Given the description of an element on the screen output the (x, y) to click on. 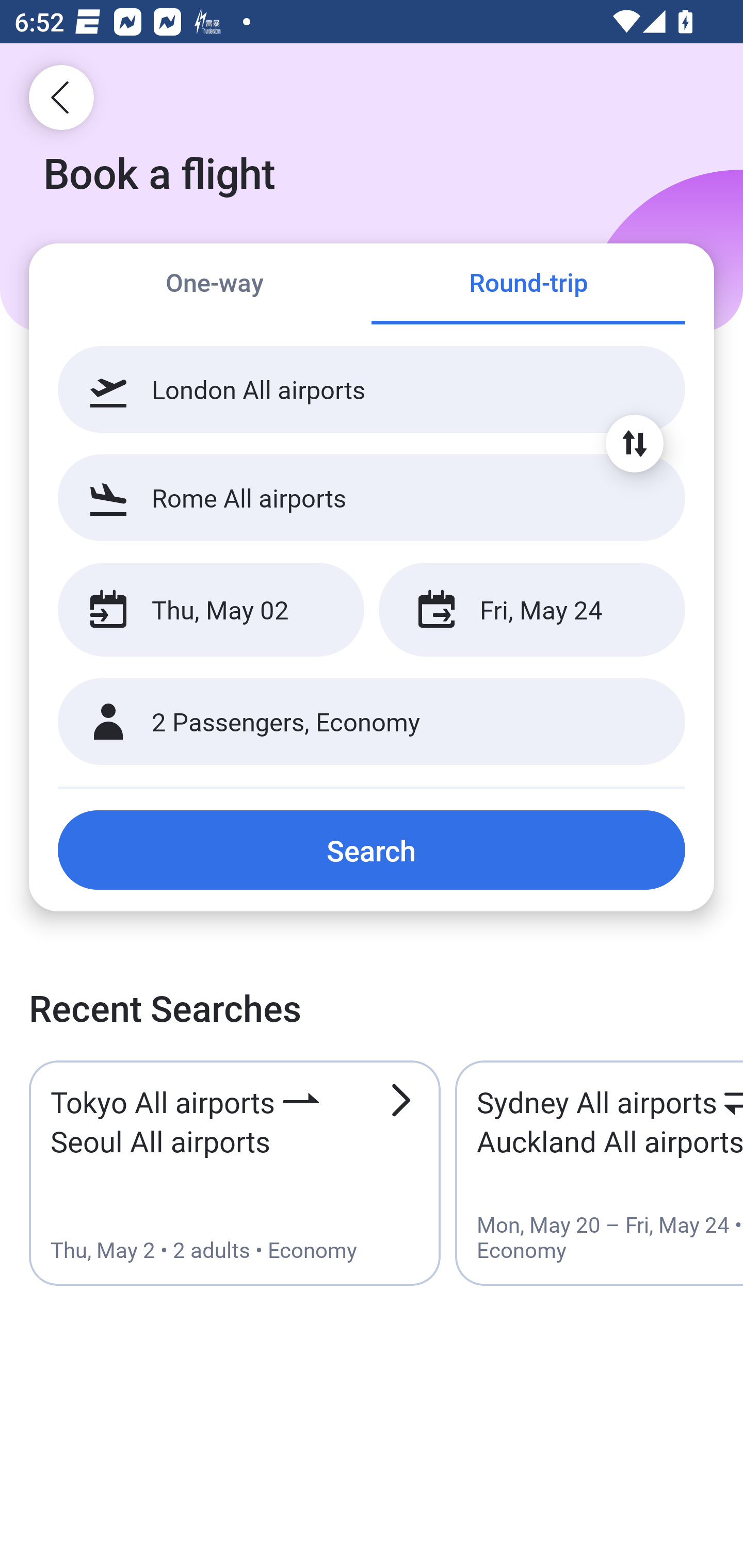
One-way (214, 284)
London All airports (371, 389)
Rome All airports (371, 497)
Thu, May 02 (210, 609)
Fri, May 24 (531, 609)
2 Passengers, Economy (371, 721)
Search (371, 849)
